Given the description of an element on the screen output the (x, y) to click on. 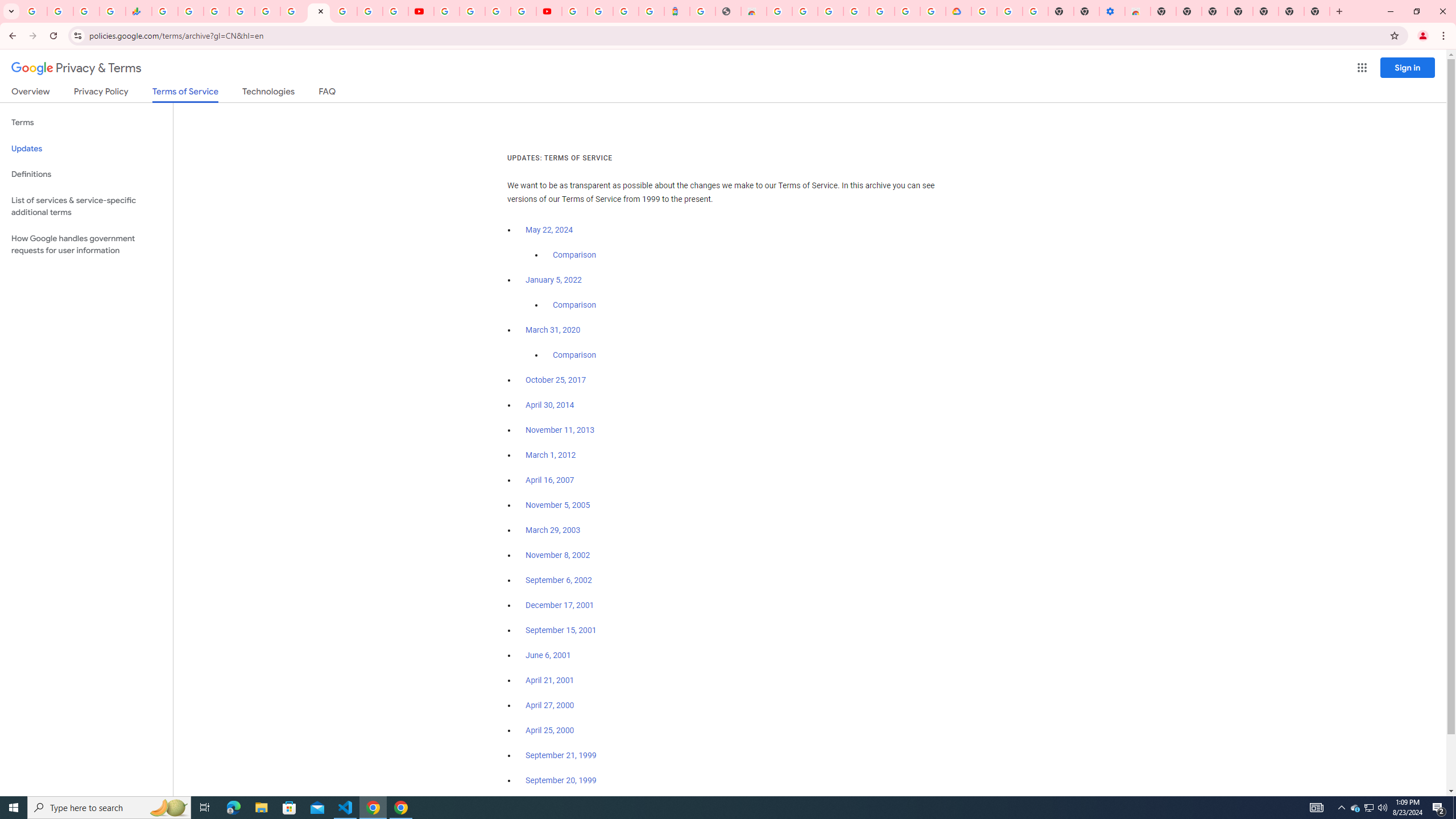
September 21, 1999 (560, 755)
Atour Hotel - Google hotels (676, 11)
April 25, 2000 (550, 729)
List of services & service-specific additional terms (86, 206)
New Tab (1162, 11)
Chrome Web Store - Accessibility extensions (1137, 11)
